Given the description of an element on the screen output the (x, y) to click on. 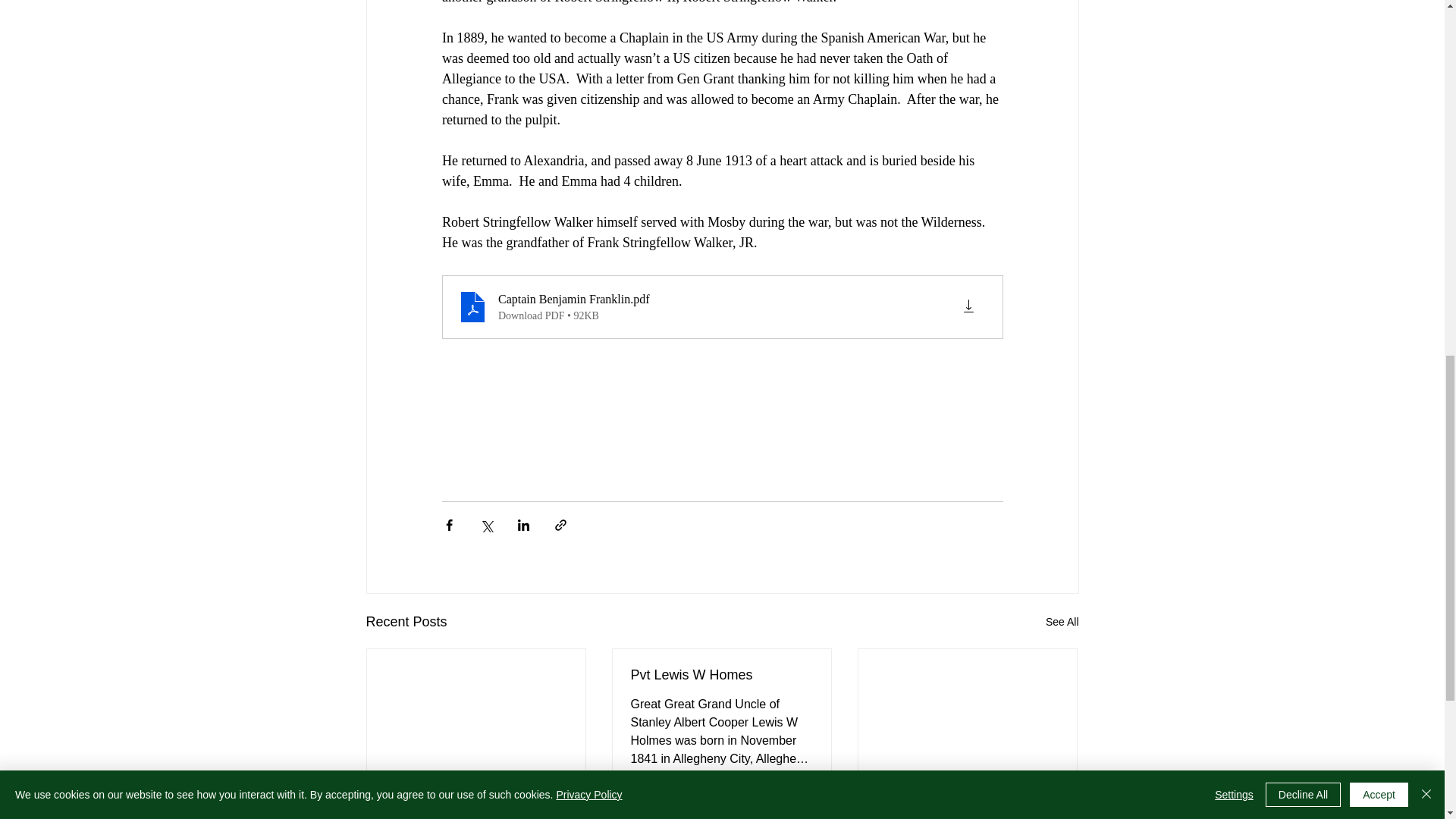
Charles Ashley Willis (476, 797)
John Thomas Chewning (967, 797)
See All (1061, 621)
Pvt Lewis W Homes (721, 675)
